Given the description of an element on the screen output the (x, y) to click on. 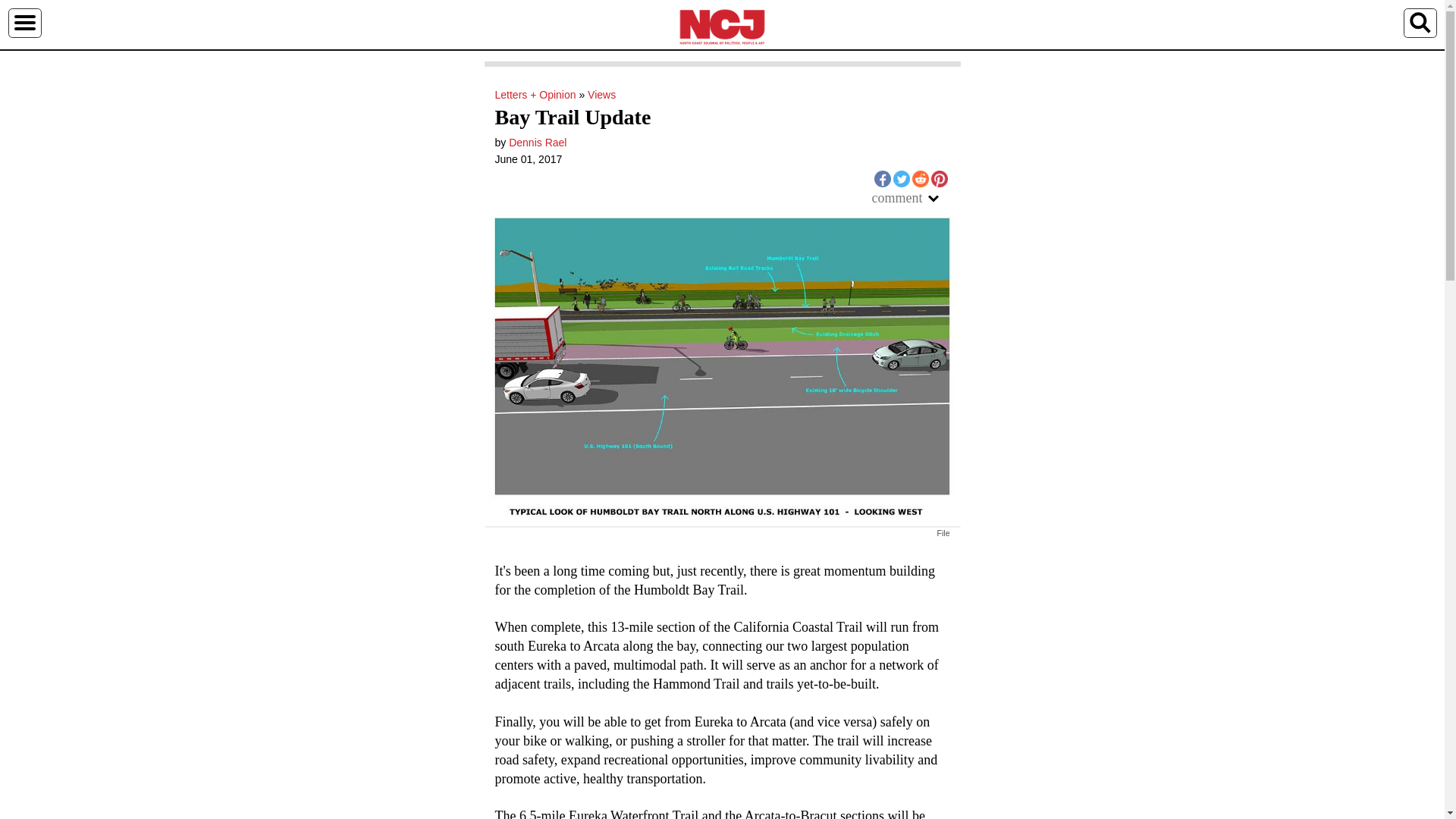
Reddit (919, 178)
North Coast Journal (722, 26)
Facebook (881, 178)
SEARCH (1419, 22)
MENU (23, 22)
Twitter (901, 178)
Views (601, 94)
Pinterest (939, 178)
comment (911, 197)
Dennis Rael (537, 142)
